Given the description of an element on the screen output the (x, y) to click on. 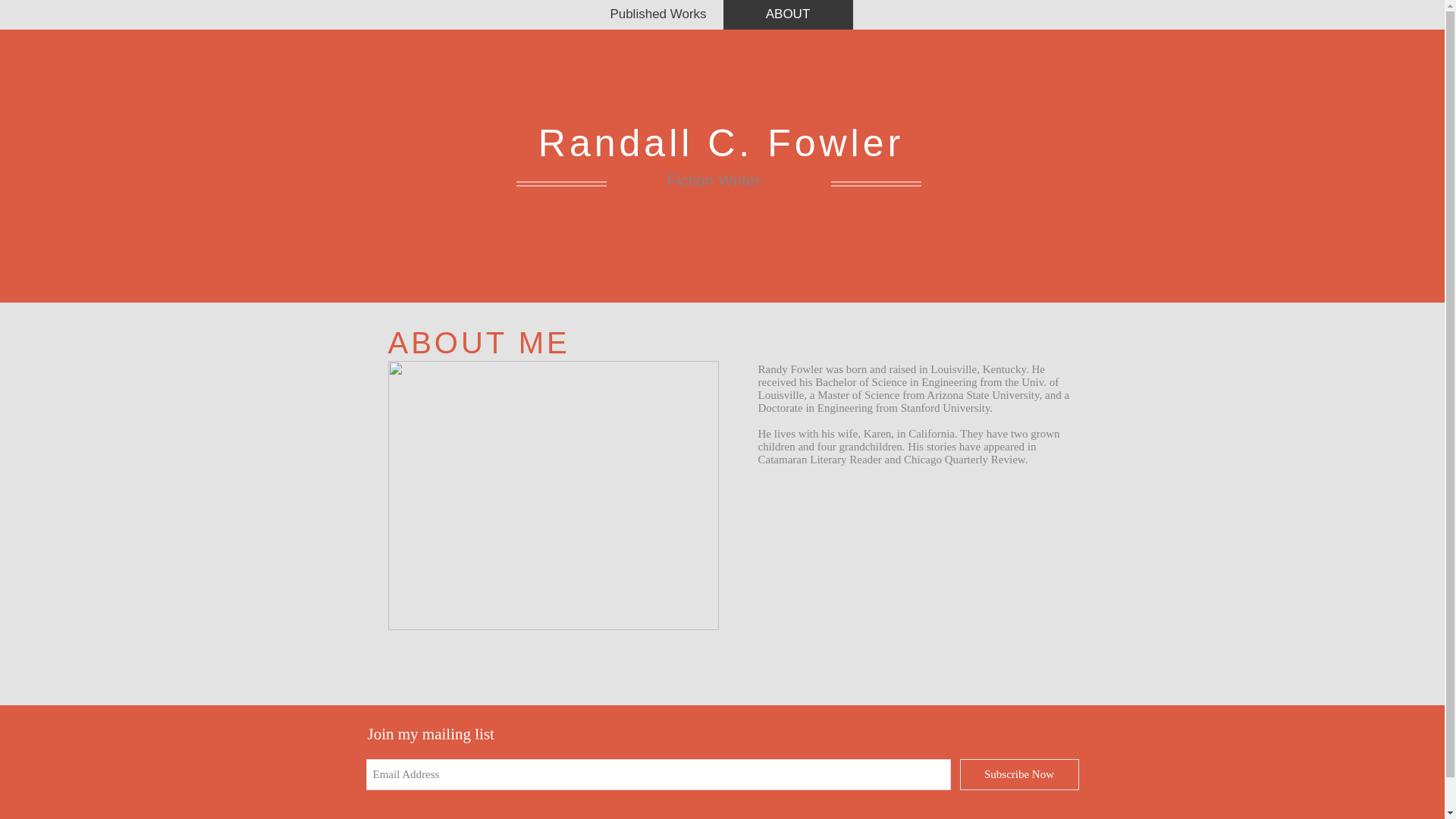
Subscribe Now (1018, 774)
Published Works (657, 14)
ABOUT (788, 14)
Randall C. Fowler (721, 143)
